Given the description of an element on the screen output the (x, y) to click on. 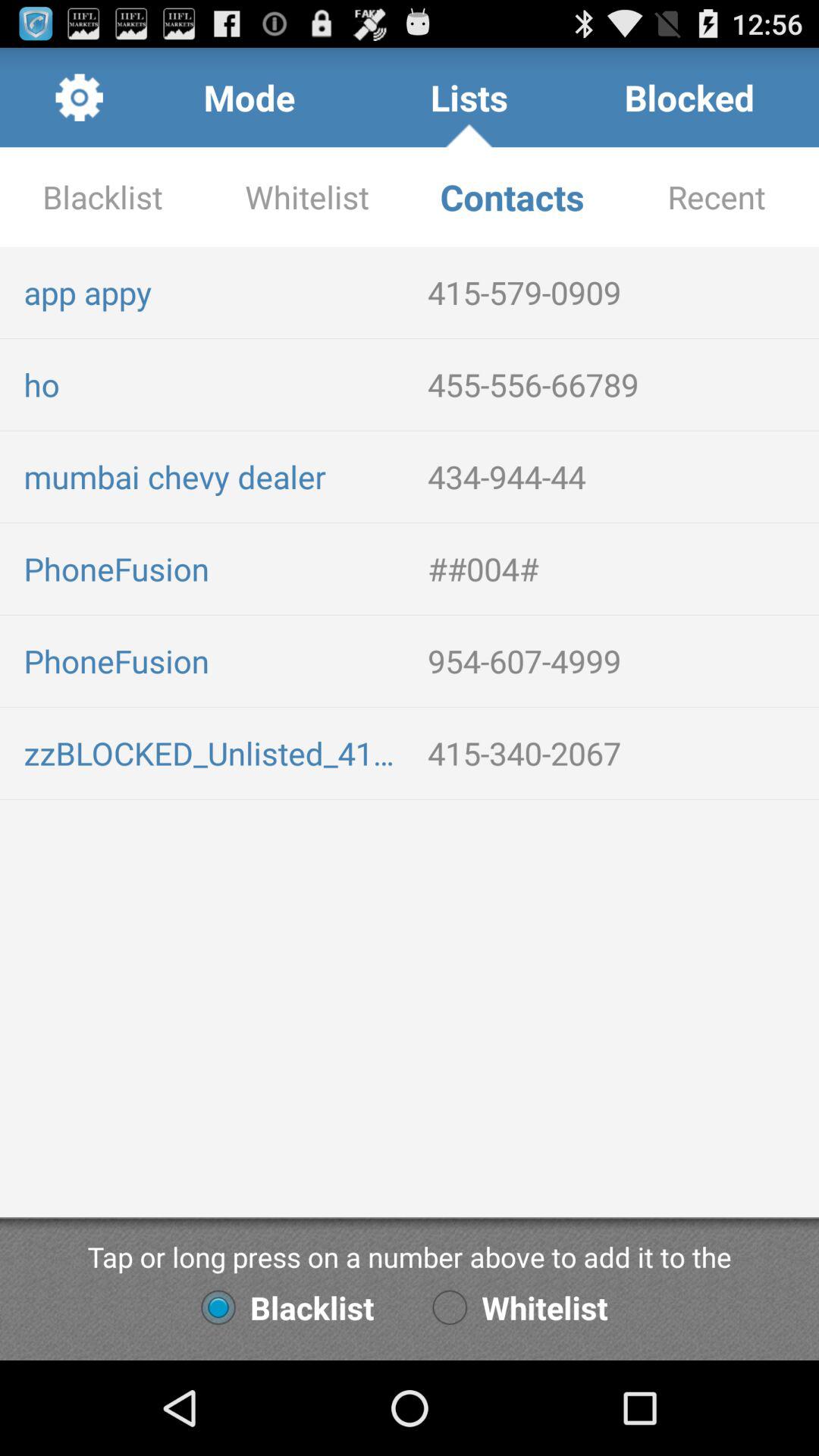
turn on the icon to the left of 455-556-66789 item (213, 384)
